Given the description of an element on the screen output the (x, y) to click on. 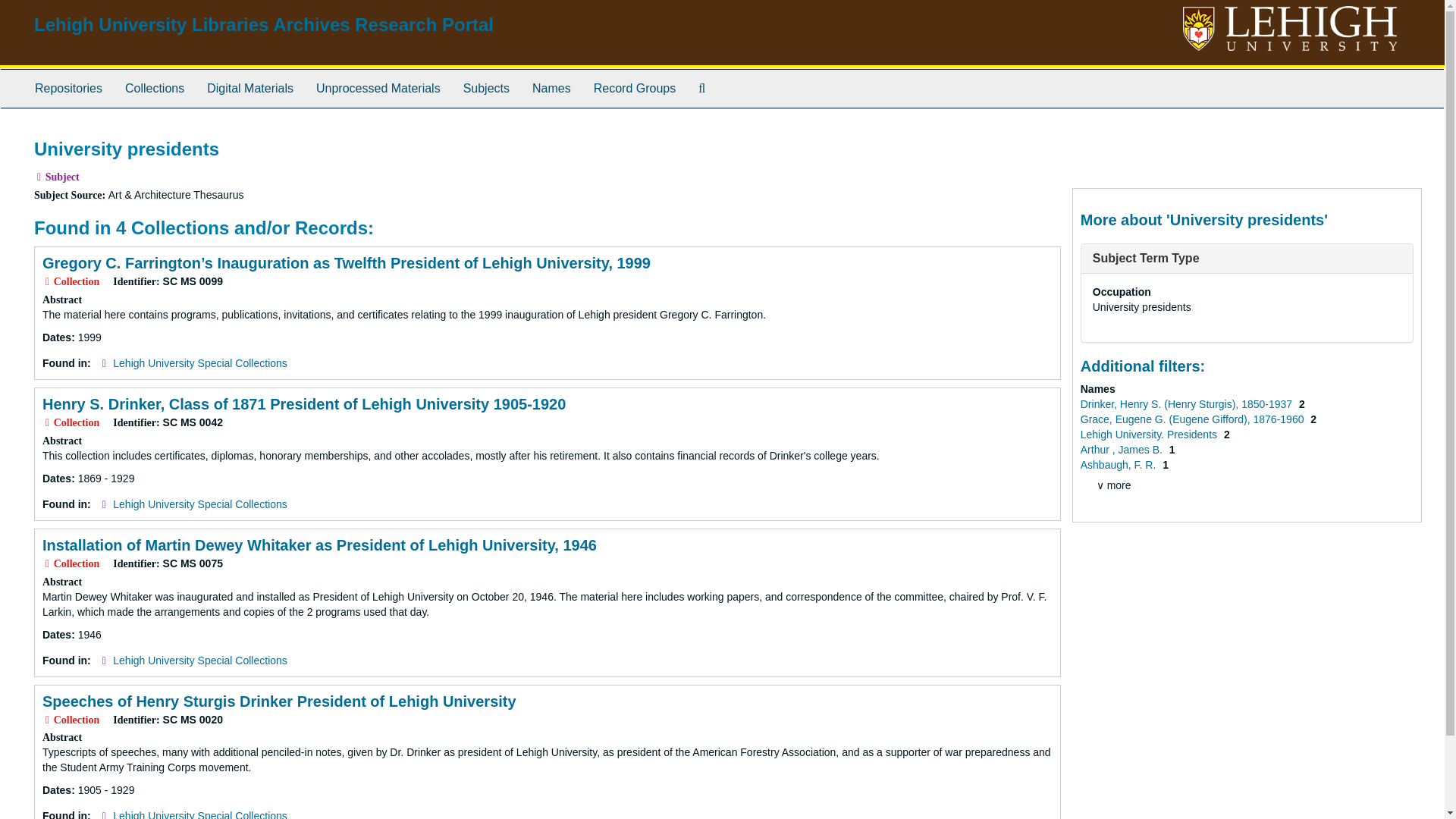
Names (551, 88)
Return to the Research Portal homepage (263, 24)
Lehigh University Special Collections (199, 363)
Filter By 'Ashbaugh, F. R.' (1119, 464)
Lehigh University Special Collections (199, 814)
Lehigh University Special Collections (199, 660)
Record Groups (634, 88)
Arthur , James B. (1123, 449)
Subject Term Type (1146, 257)
Lehigh University Special Collections (199, 503)
Filter By 'Arthur , James B.' (1123, 449)
Ashbaugh, F. R. (1119, 464)
Digital Materials (249, 88)
Filter By 'Lehigh University. Presidents' (1150, 434)
